Given the description of an element on the screen output the (x, y) to click on. 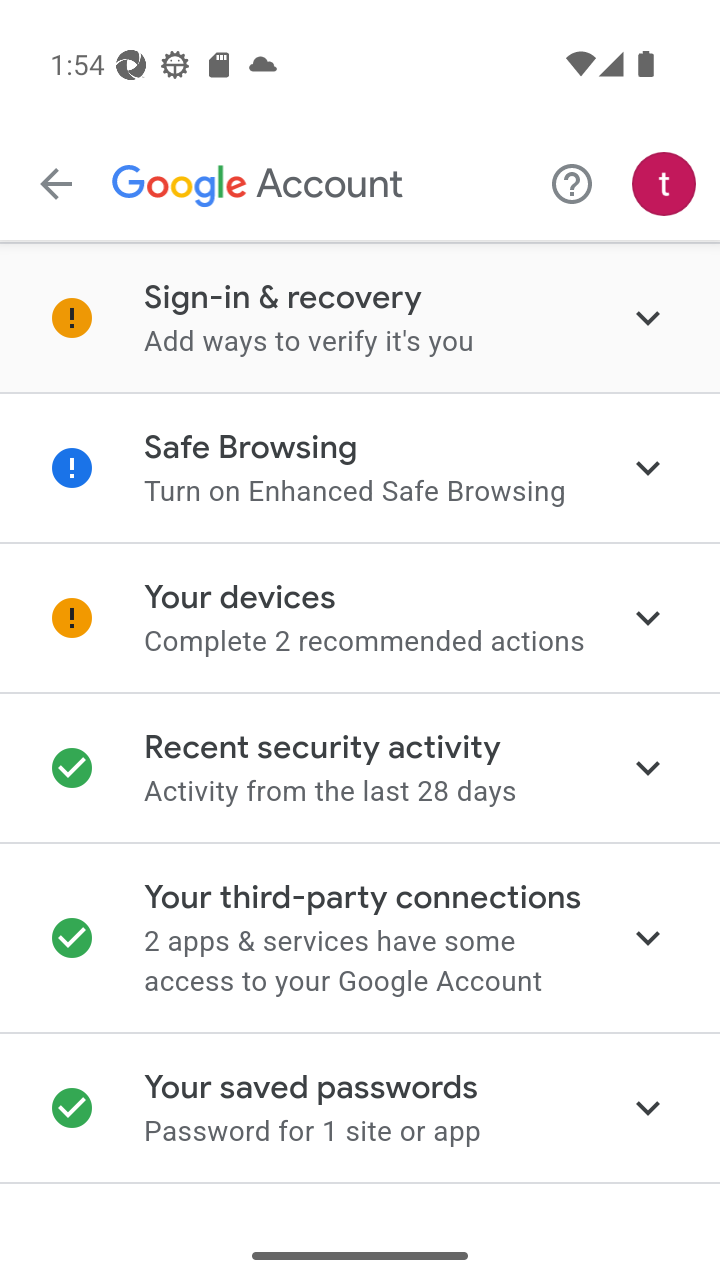
Navigate up (56, 184)
Help & feedback (571, 183)
Safe Browsing Turn on Enhanced Safe Browsing (360, 467)
Your saved passwords Password for 1 site or app (360, 1107)
